Given the description of an element on the screen output the (x, y) to click on. 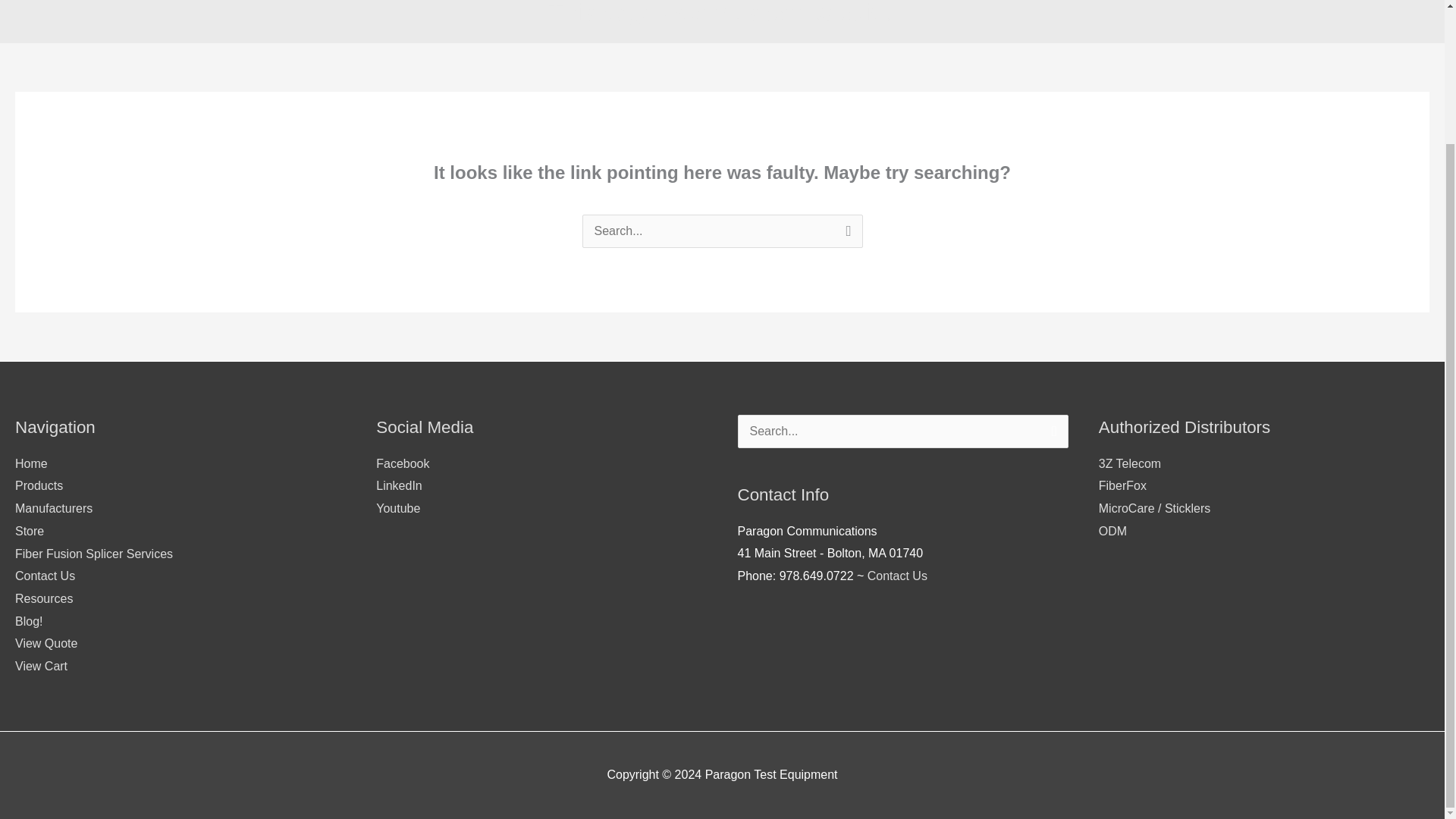
Resources (43, 598)
Contact Us (44, 575)
ODM (1112, 530)
Store (28, 530)
Fiber Fusion Splicer Services (93, 553)
View Cart (40, 666)
LinkedIn (398, 485)
View Quote (45, 643)
Contact Us (897, 575)
Youtube (397, 508)
